Given the description of an element on the screen output the (x, y) to click on. 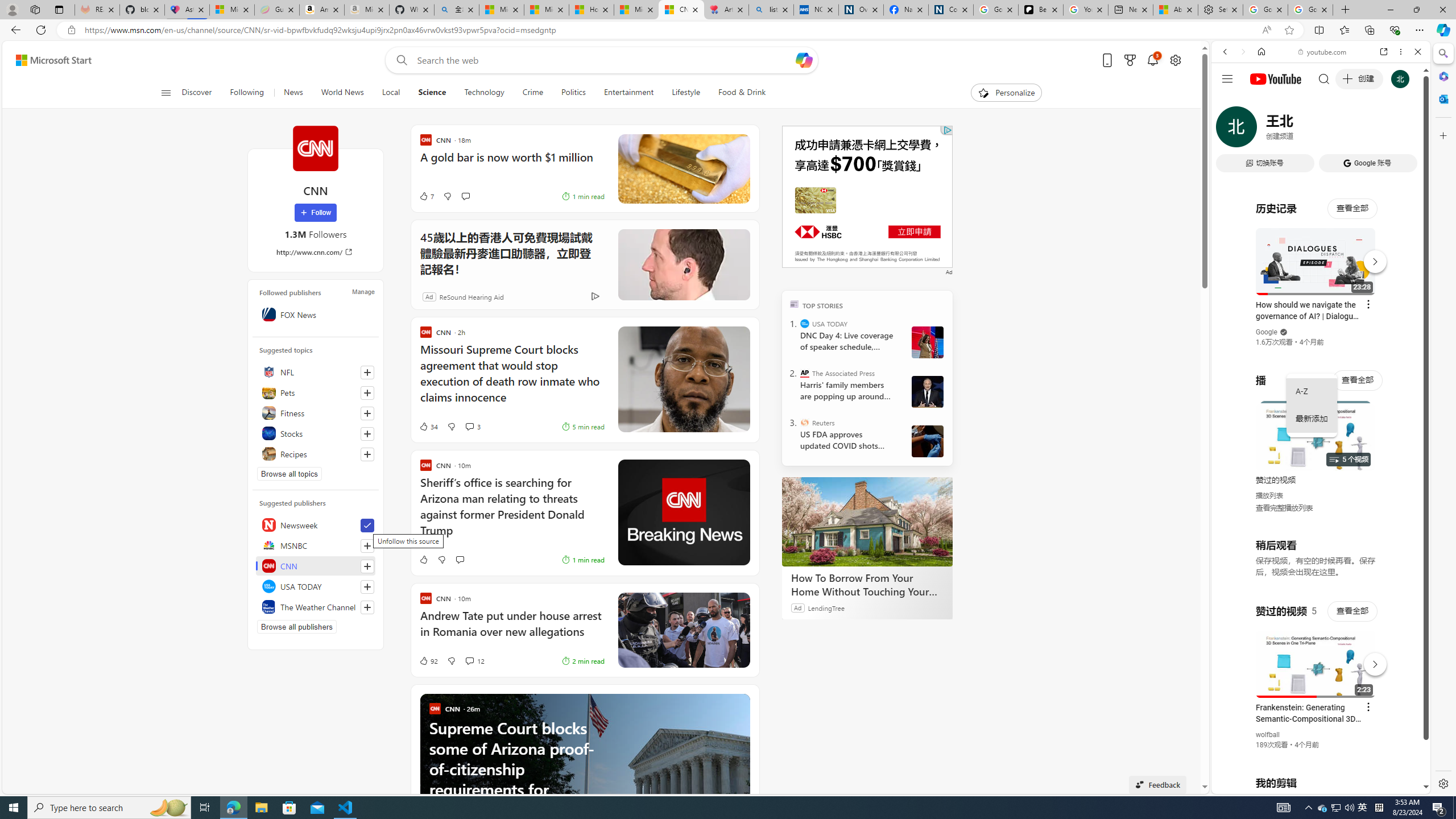
US FDA approves updated COVID shots ahead of fall and winter (846, 440)
Browse all topics (289, 473)
World News (341, 92)
Crime (532, 92)
Preferences (1403, 129)
Reuters (804, 422)
Notifications (1152, 60)
Web search (398, 60)
34 Like (427, 426)
MSNBC (315, 545)
Science (432, 92)
